Given the description of an element on the screen output the (x, y) to click on. 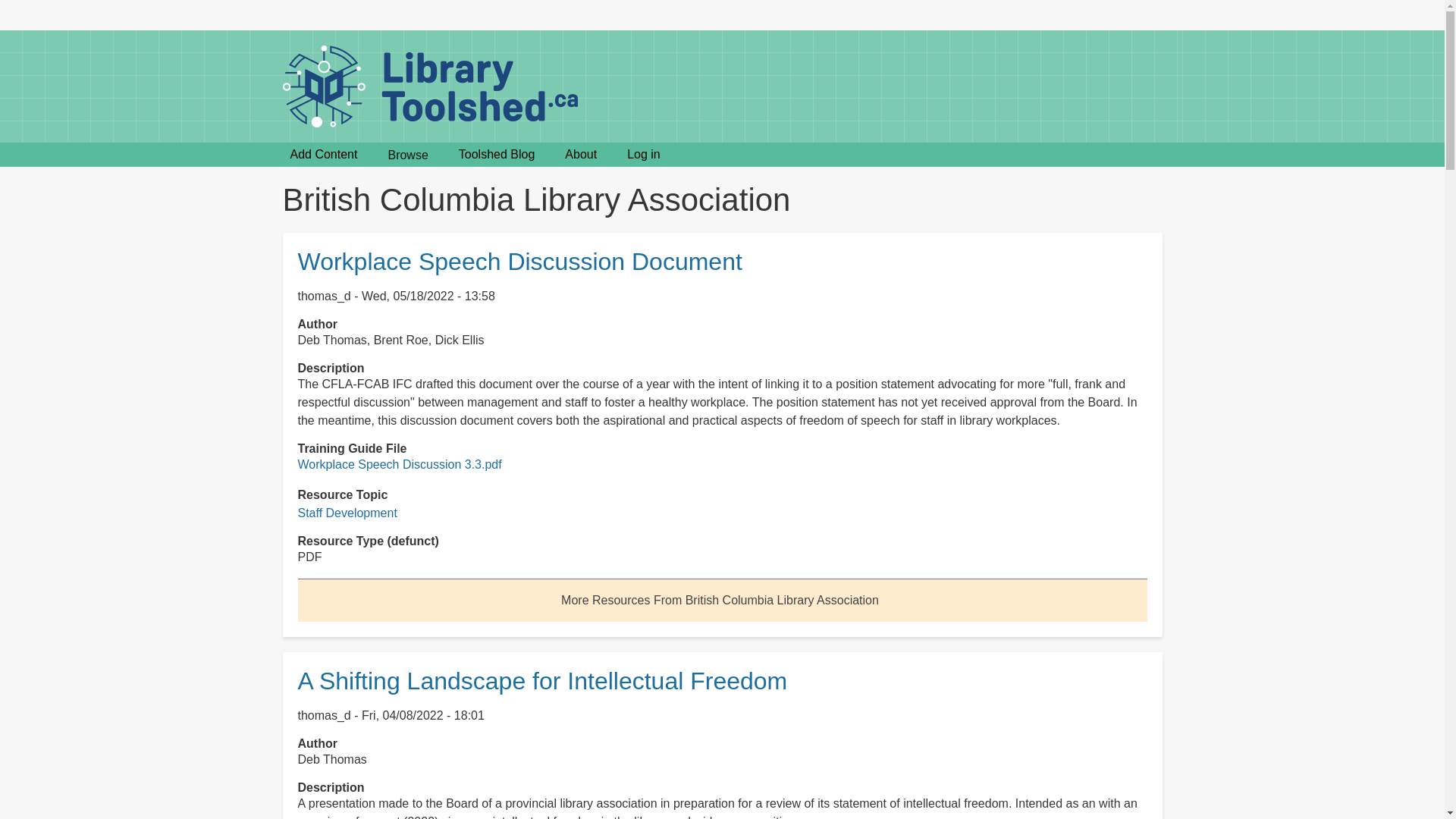
Browse (407, 154)
Friday, April 8, 2022 - 18:01 (422, 715)
Staff Development (346, 512)
About (580, 154)
Add Content (323, 154)
Log in (643, 154)
Workplace Speech Discussion Document (519, 261)
Home (435, 86)
Wednesday, May 18, 2022 - 13:58 (428, 295)
A Shifting Landscape for Intellectual Freedom (542, 680)
British Columbia Library Association (719, 599)
Toolshed Blog (497, 154)
Workplace Speech Discussion 3.3.pdf (398, 463)
